Given the description of an element on the screen output the (x, y) to click on. 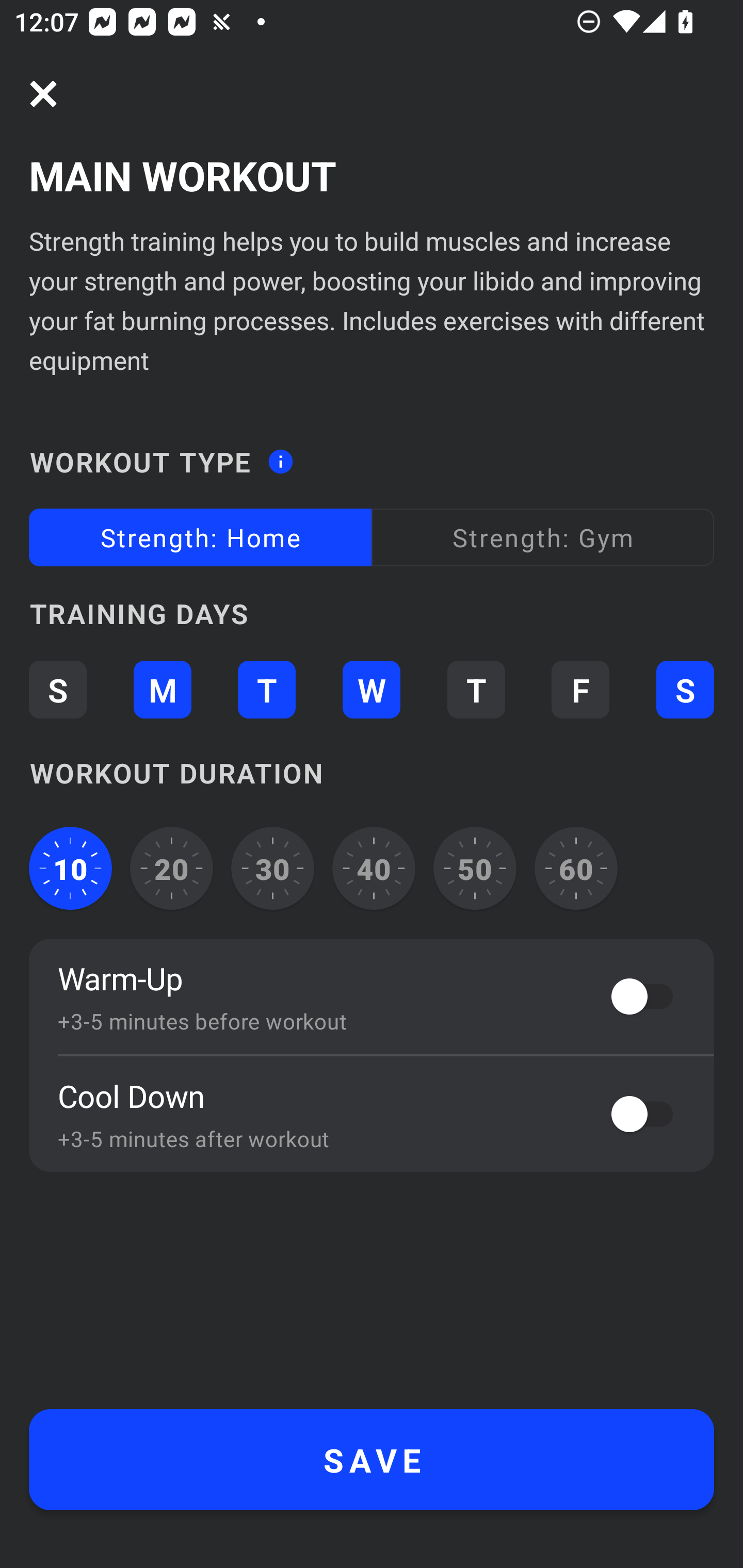
Navigation icon (43, 93)
Workout type information button (280, 455)
Strength: Home (199, 536)
Strength: Gym (542, 536)
S (57, 689)
T (476, 689)
F (580, 689)
10 (70, 868)
20 (171, 868)
30 (272, 868)
40 (373, 868)
50 (474, 868)
60 (575, 868)
SAVE (371, 1459)
